Given the description of an element on the screen output the (x, y) to click on. 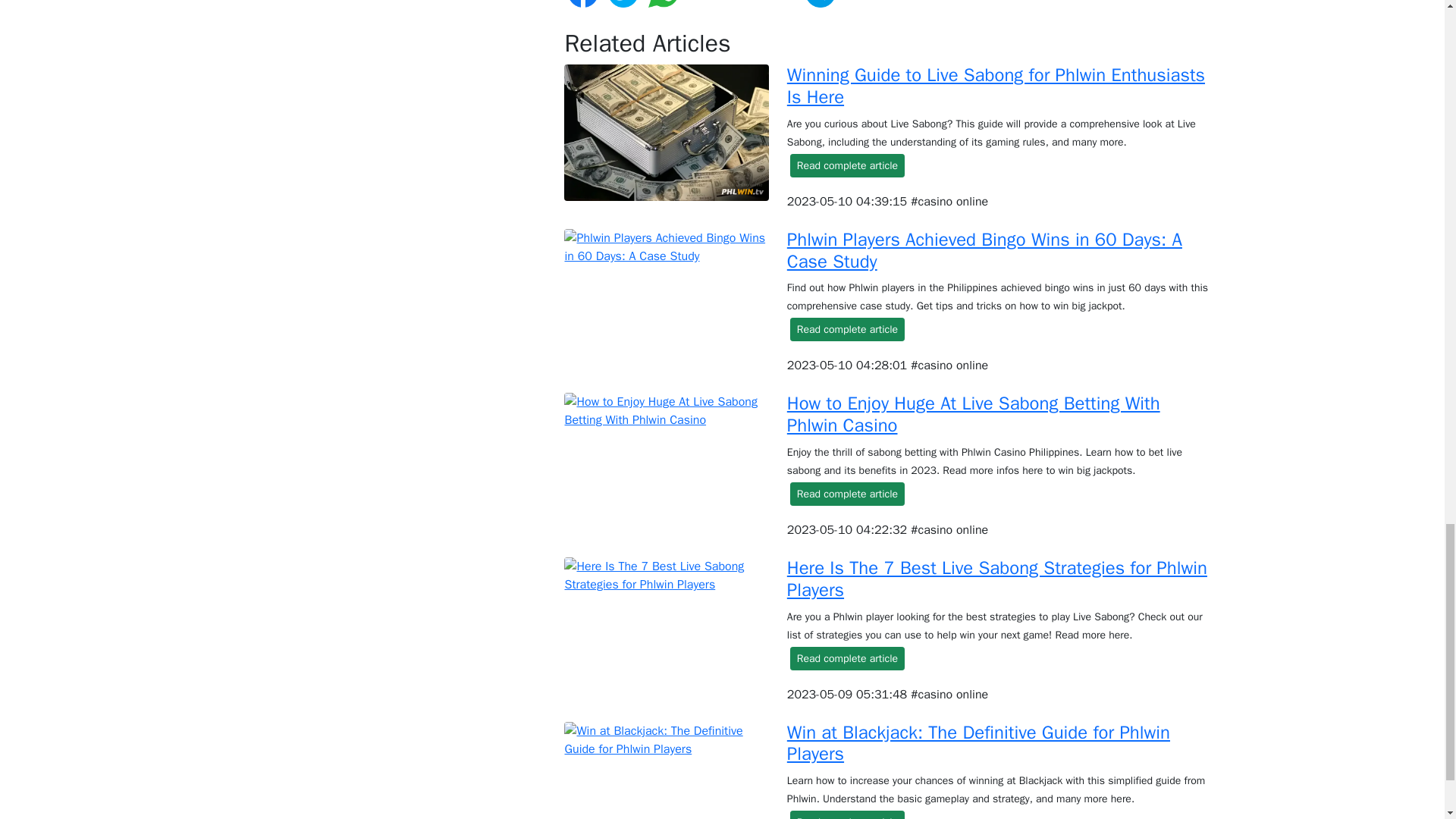
How to Enjoy Huge At Live Sabong Betting With Phlwin Casino (973, 414)
Read complete article (847, 814)
Win at Blackjack: The Definitive Guide for Phlwin Players (978, 743)
Read complete article (847, 658)
Here Is The 7 Best Live Sabong Strategies for Phlwin Players (997, 578)
Read complete article (847, 329)
Read complete article (847, 165)
Phlwin Players Achieved Bingo Wins in 60 Days: A Case Study (984, 250)
Read complete article (847, 494)
Winning Guide to Live Sabong for Phlwin Enthusiasts Is Here (996, 85)
